Given the description of an element on the screen output the (x, y) to click on. 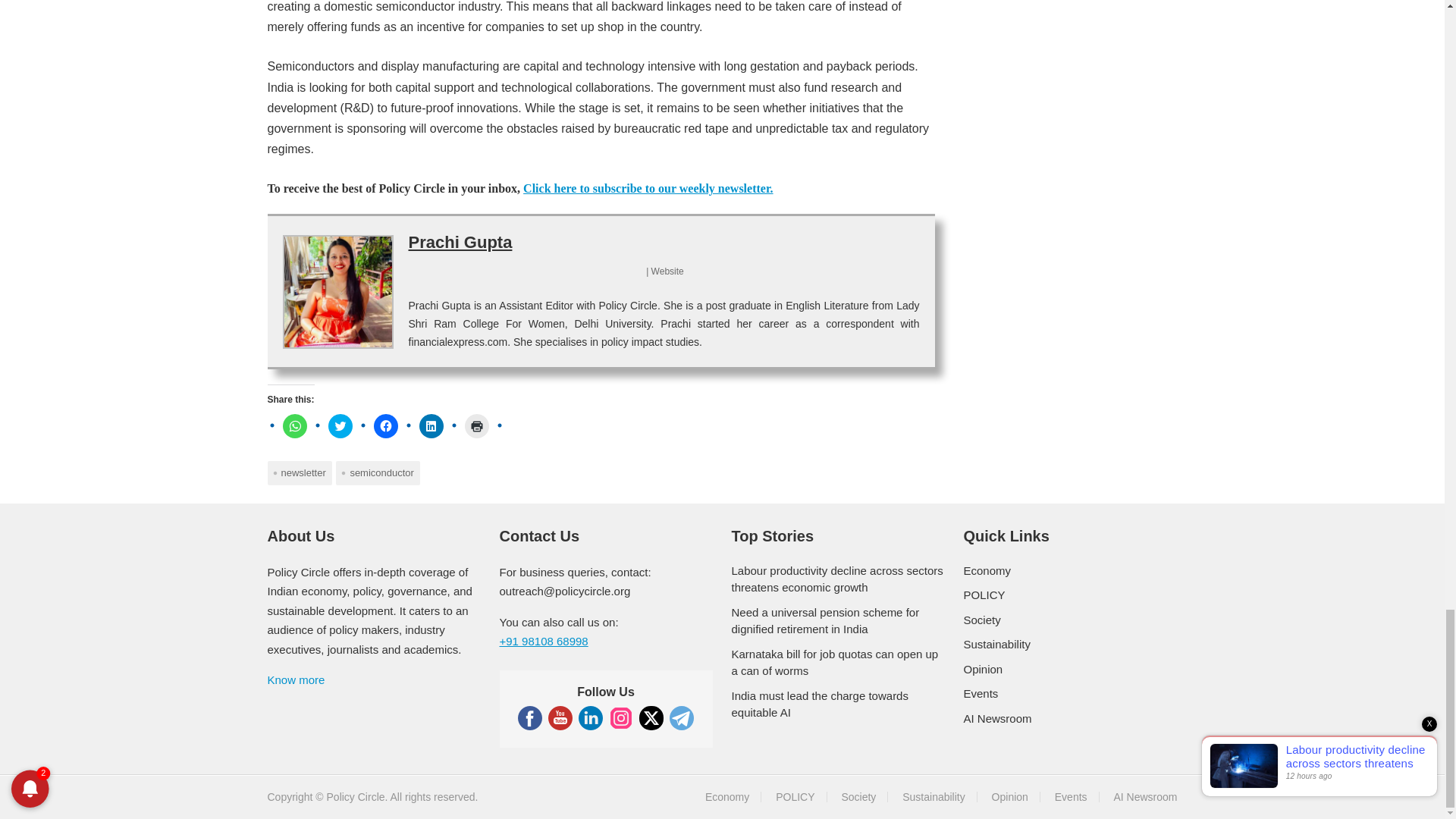
Click to share on WhatsApp (293, 426)
Click to print (475, 426)
Click to share on LinkedIn (430, 426)
Click to share on Twitter (339, 426)
Click to share on Facebook (384, 426)
